Given the description of an element on the screen output the (x, y) to click on. 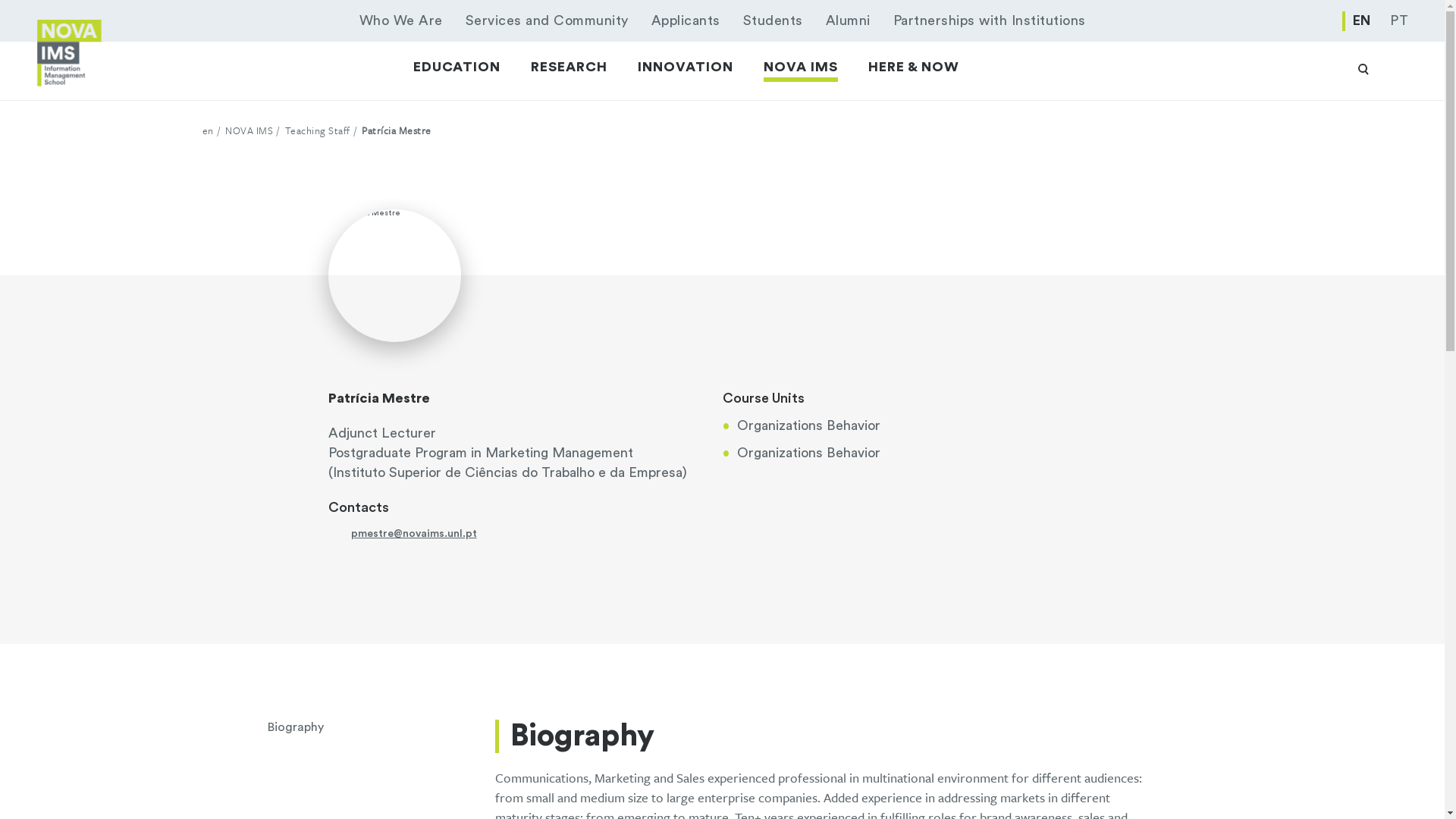
Biography (380, 726)
RESEARCH (569, 66)
EDUCATION (456, 66)
INNOVATION (685, 66)
